Given the description of an element on the screen output the (x, y) to click on. 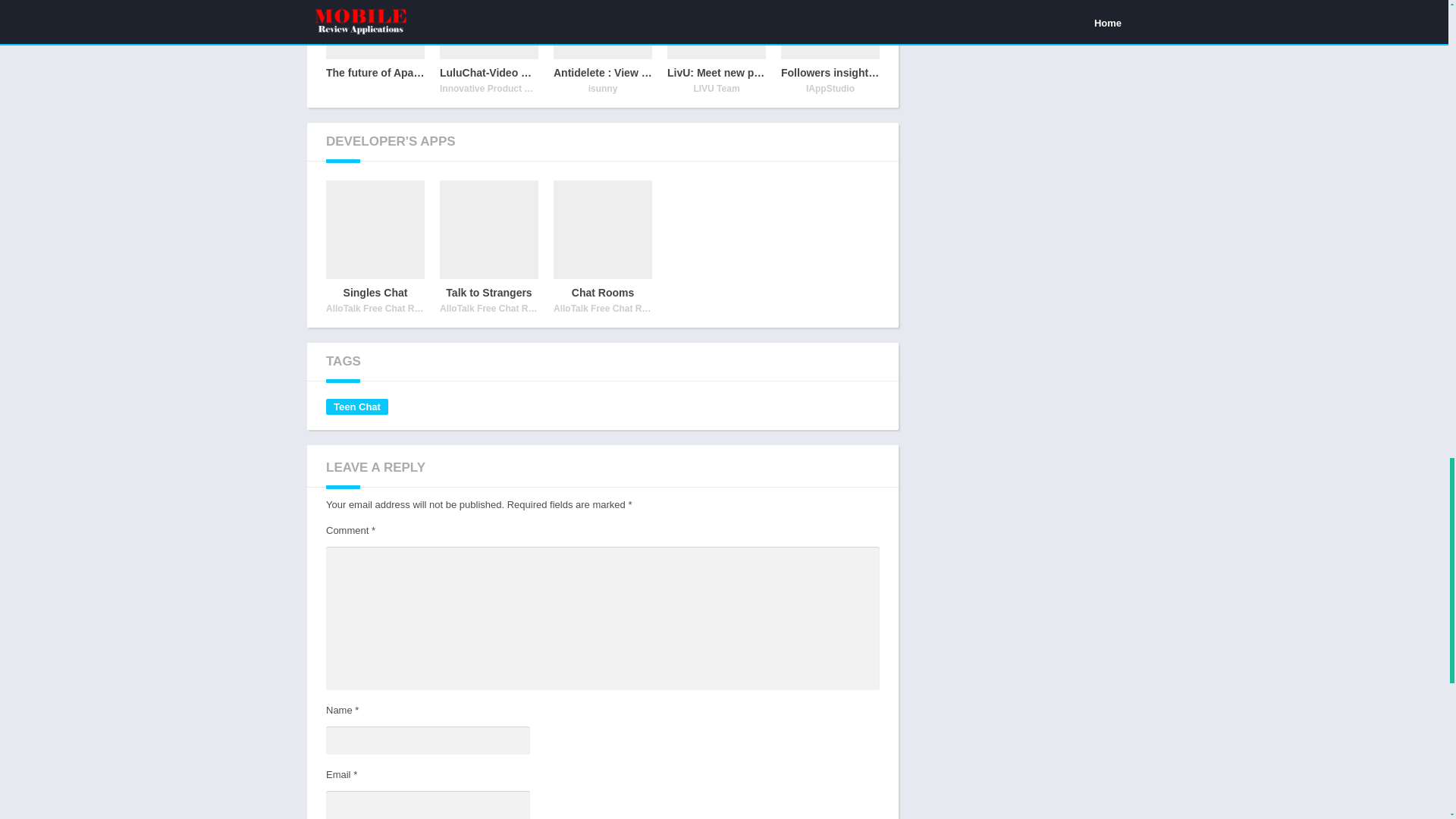
Teen Chat (602, 48)
